Given the description of an element on the screen output the (x, y) to click on. 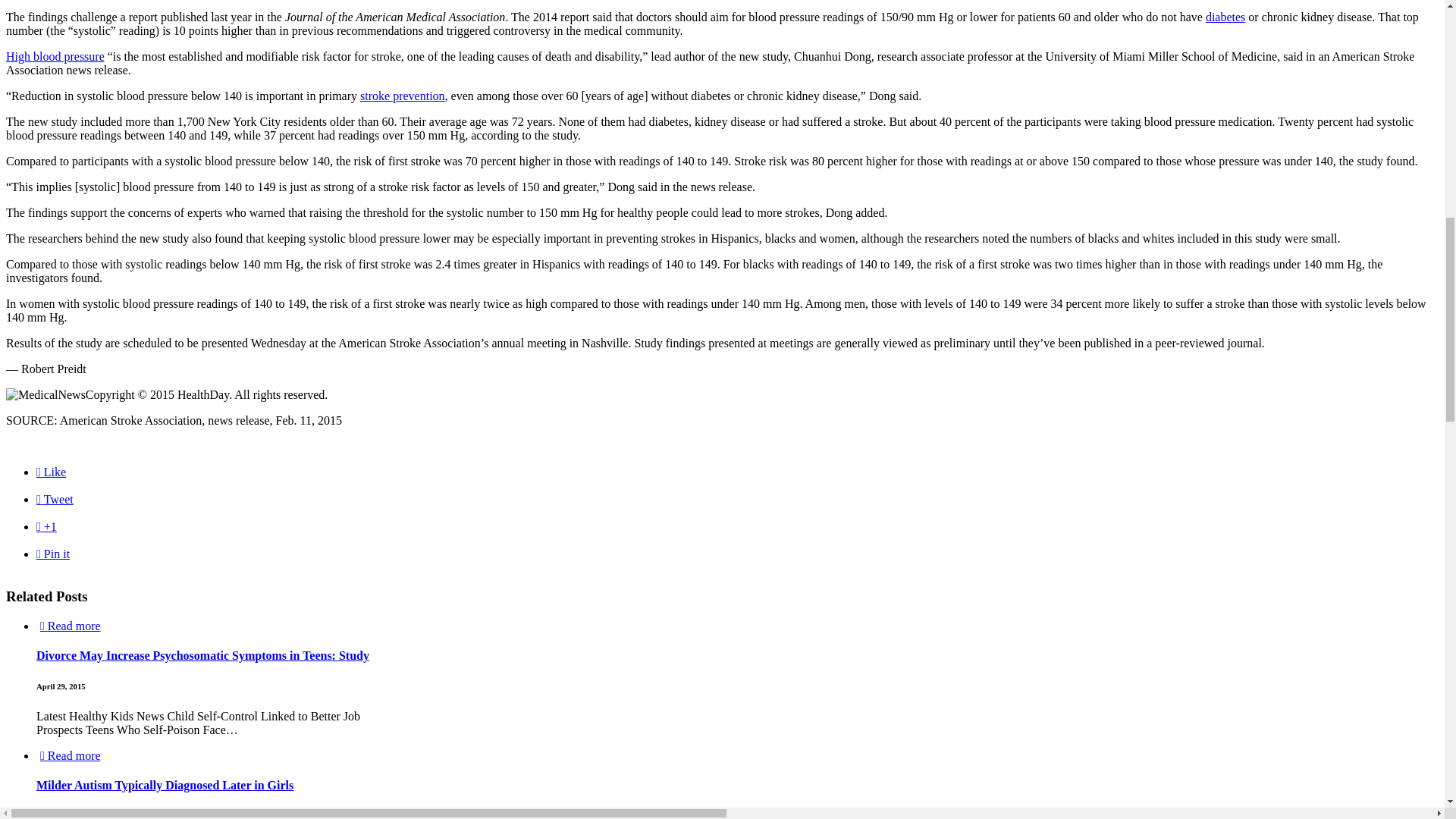
Share on Twitter (55, 499)
Share on Facebook (50, 472)
Share on Google Plus (46, 526)
Share on Pinterest (52, 553)
Milder Autism Typically Diagnosed Later in Girls (165, 784)
Divorce May Increase Psychosomatic Symptoms in Teens: Study (202, 655)
